Given the description of an element on the screen output the (x, y) to click on. 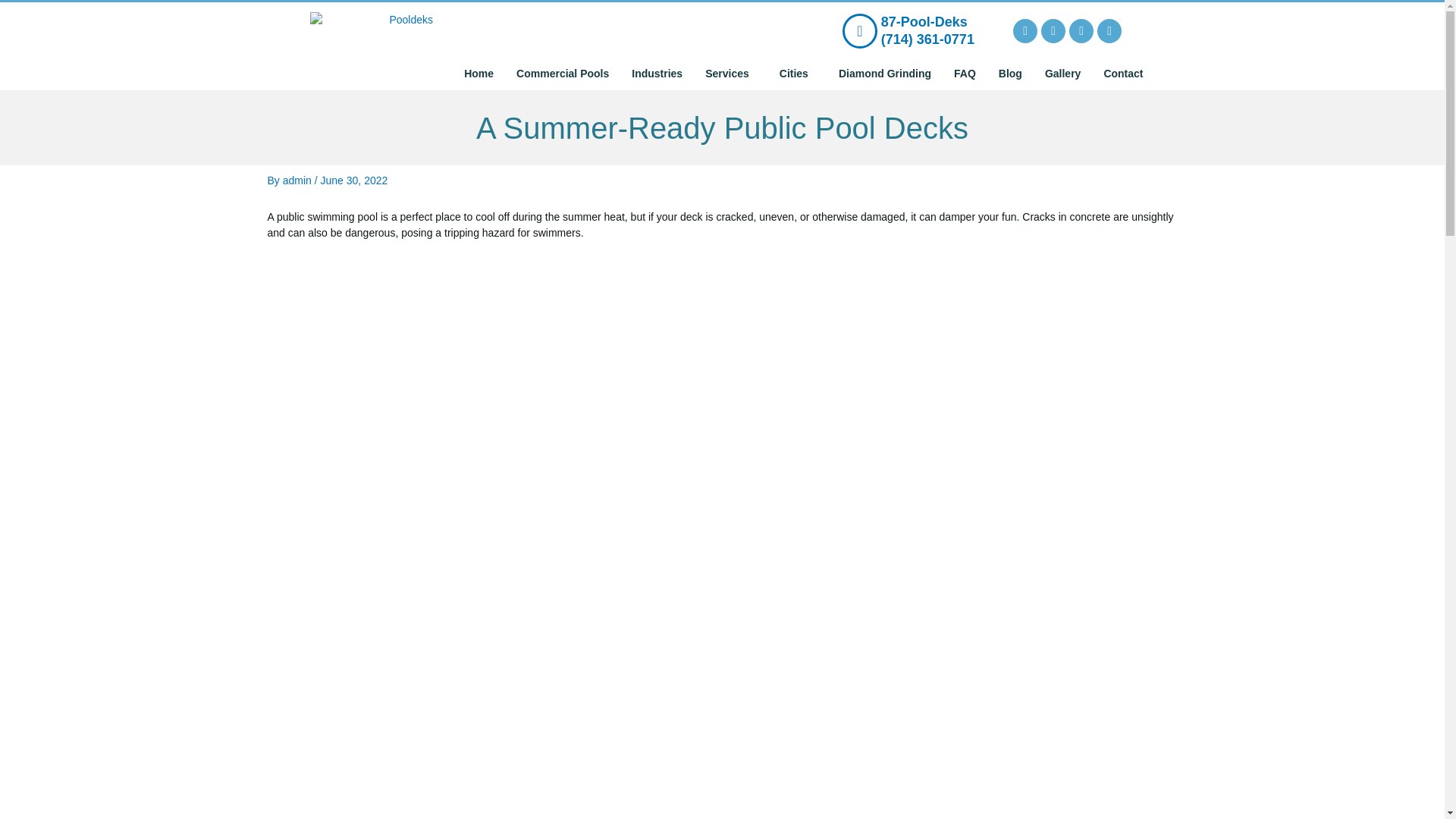
Commercial Pools (562, 73)
87-Pool-Deks (924, 21)
Facebook (1024, 30)
View all posts by admin (298, 180)
Youtube (1080, 30)
Twitter (1053, 30)
Linkedin (1109, 30)
Home (478, 73)
